Given the description of an element on the screen output the (x, y) to click on. 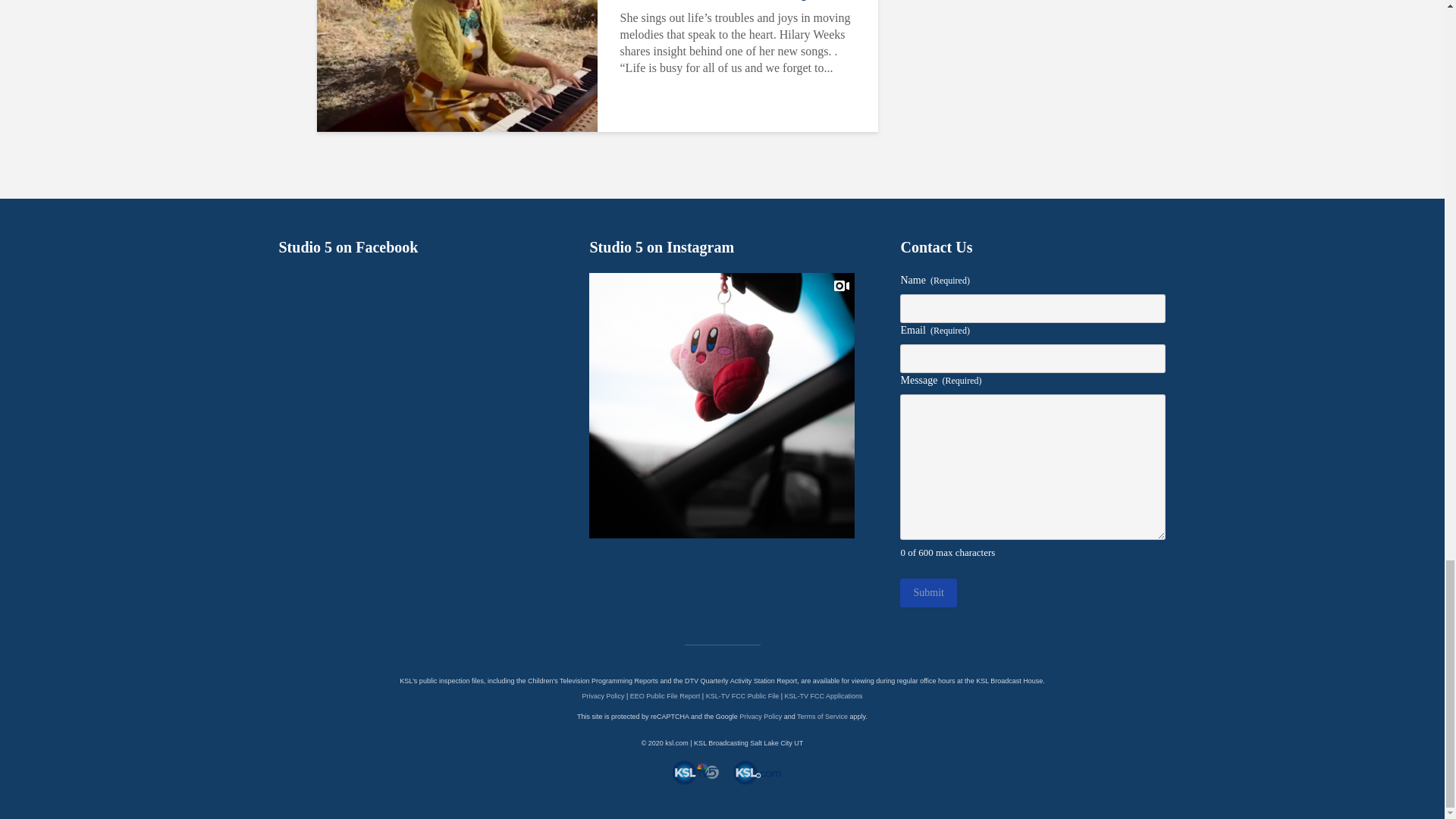
Submit (927, 592)
